Given the description of an element on the screen output the (x, y) to click on. 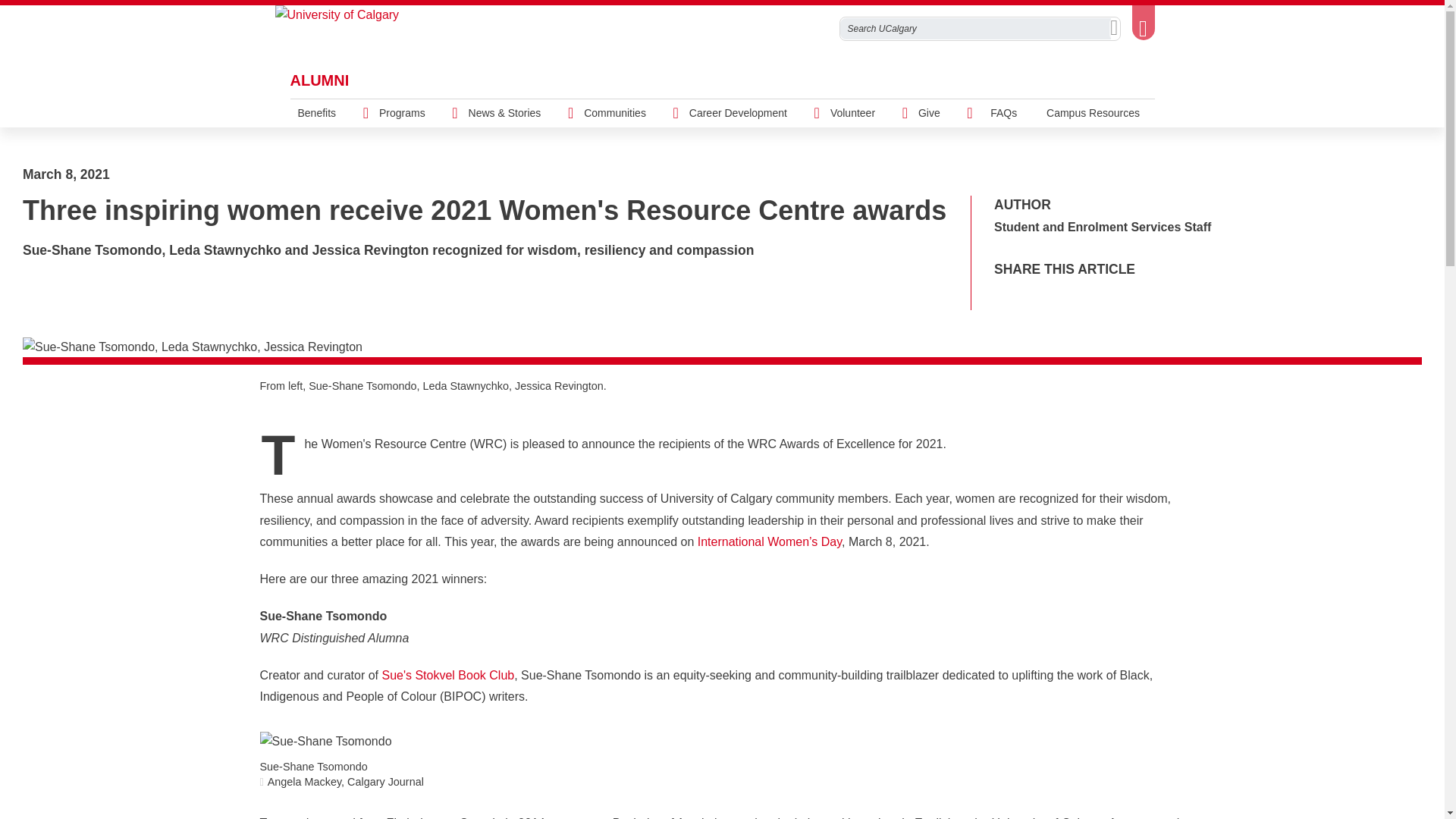
ALUMNI (319, 80)
